Given the description of an element on the screen output the (x, y) to click on. 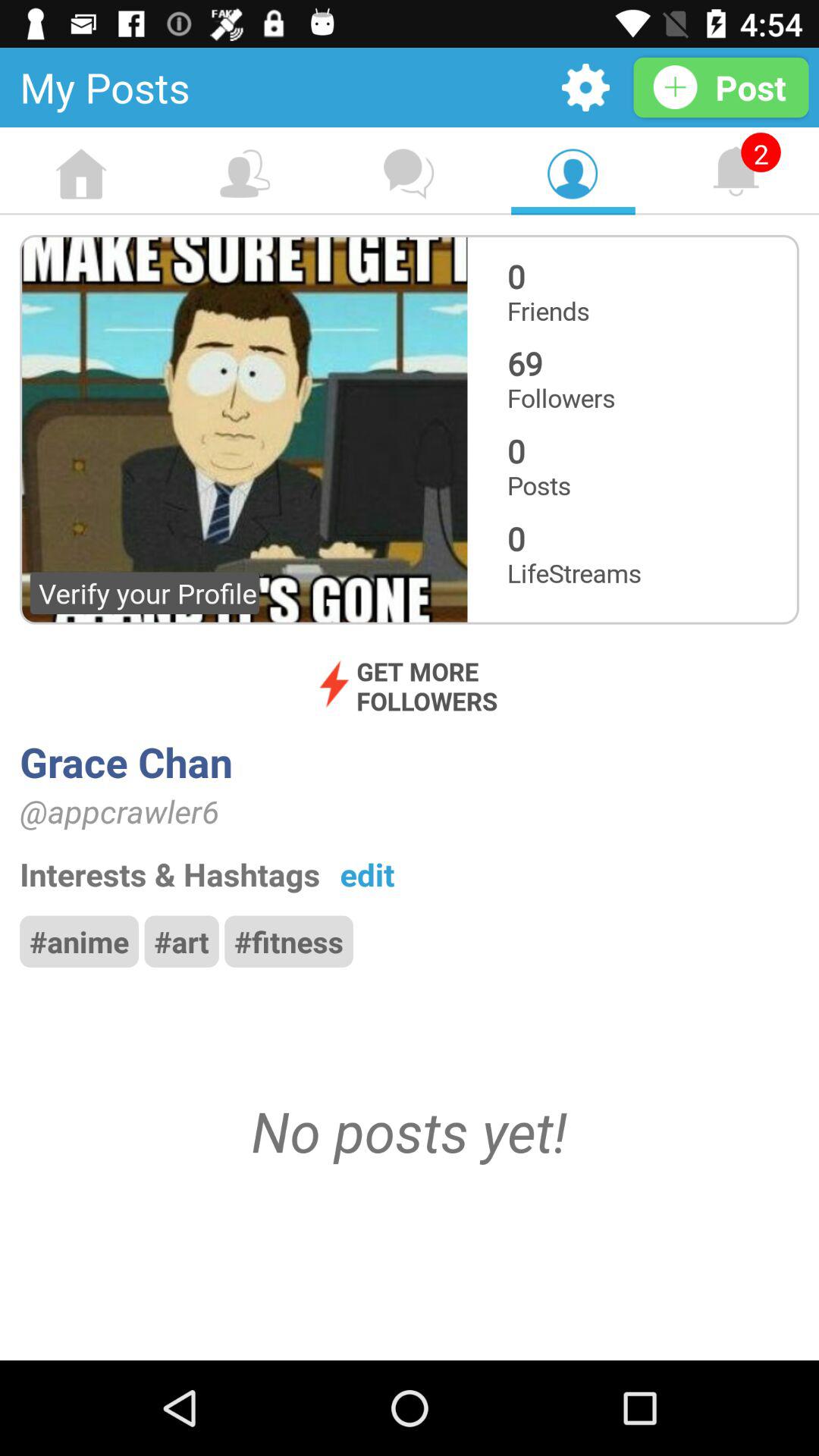
click #fitness (288, 941)
